Given the description of an element on the screen output the (x, y) to click on. 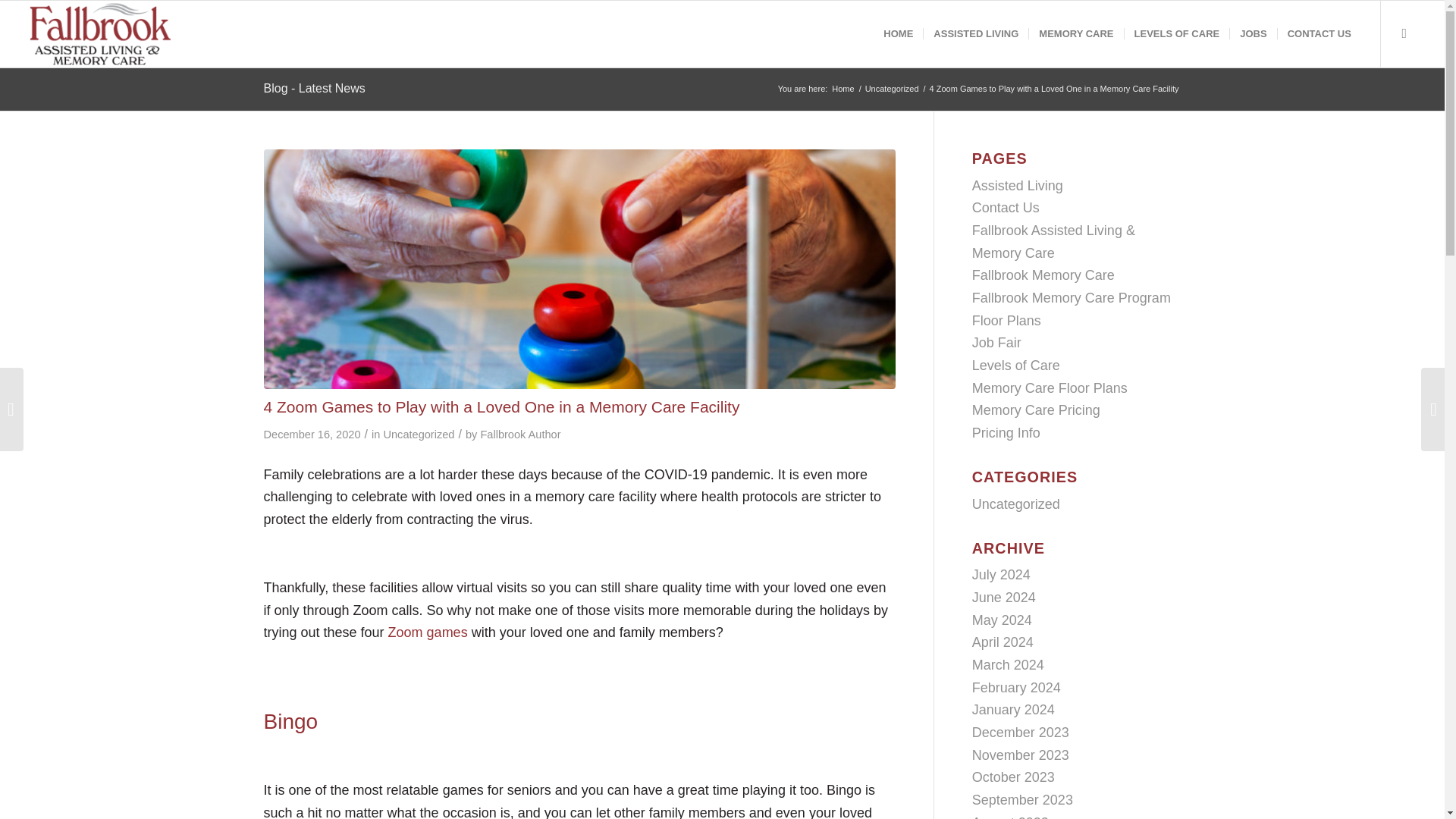
MEMORY CARE (1074, 33)
Fallbrook Memory Care Program (1071, 297)
Fallbrook-logo (105, 33)
Floor Plans (1006, 320)
CONTACT US (1318, 33)
Assisted Living (1017, 185)
Fallbrook Assisted Living (842, 89)
Blog - Latest News (314, 88)
Zoom games (427, 631)
Uncategorized (418, 434)
Fallbrook Author (520, 434)
Home (842, 89)
Job Fair (997, 342)
LEVELS OF CARE (1177, 33)
Permanent Link: Blog - Latest News (314, 88)
